Given the description of an element on the screen output the (x, y) to click on. 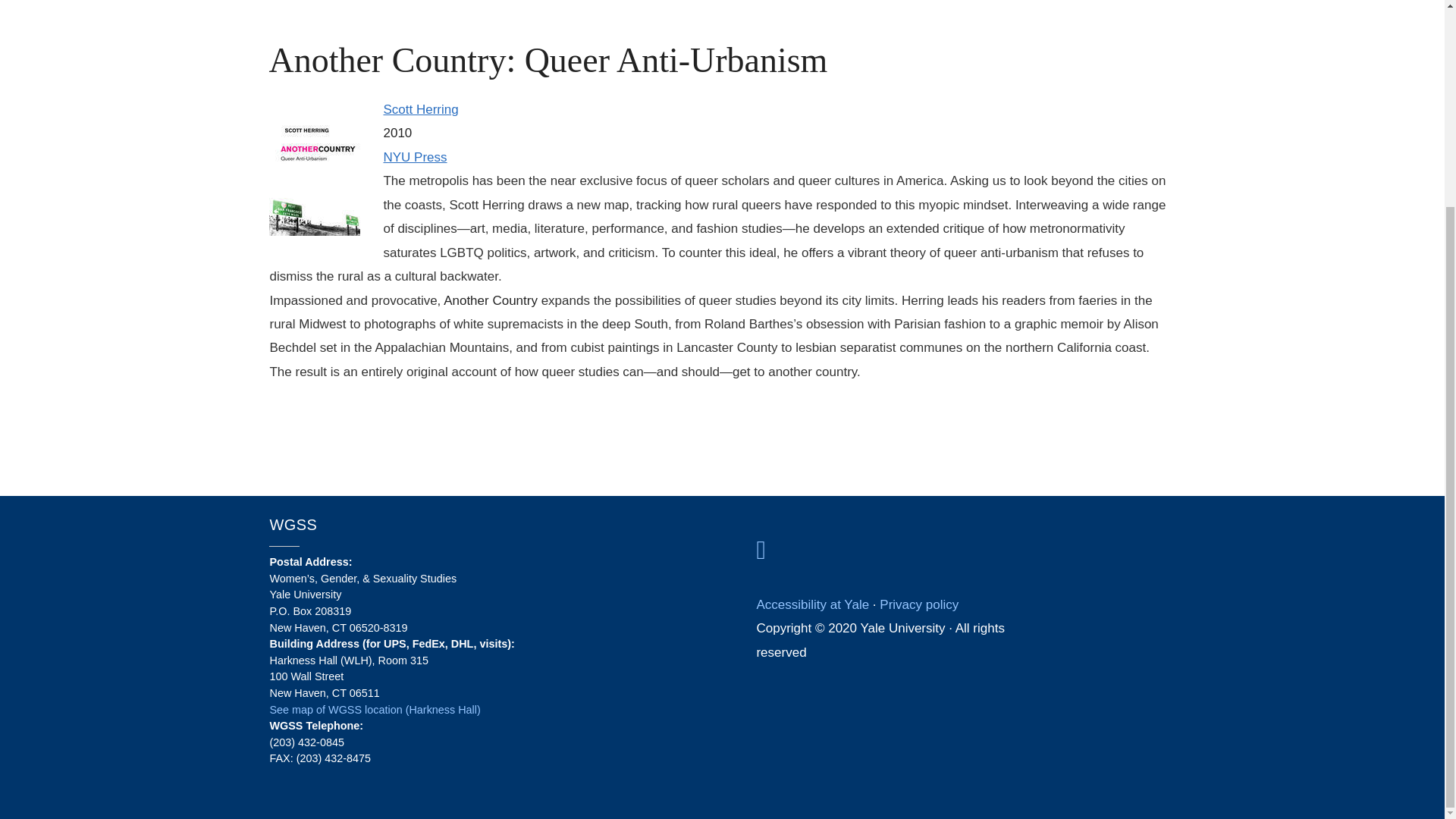
Facebook (956, 700)
Privacy policy (918, 604)
NYU Press (414, 156)
iTunes (980, 700)
Twitter (969, 700)
Sina Weibo (1005, 700)
YouTube (992, 700)
Scott Herring (420, 109)
Yale (760, 550)
Accessibility at Yale (812, 604)
